Given the description of an element on the screen output the (x, y) to click on. 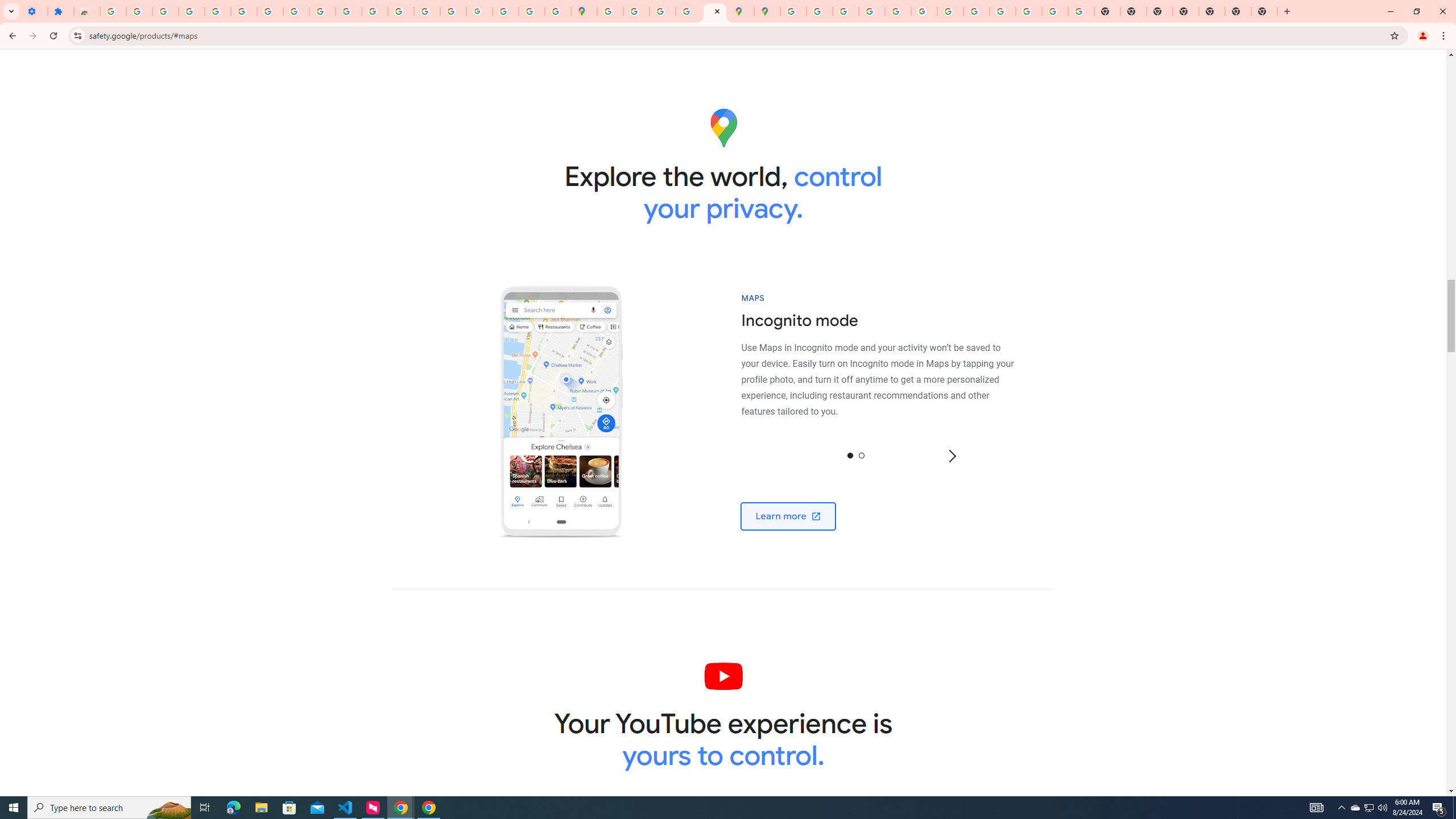
https://scholar.google.com/ (374, 11)
1 (861, 454)
The YouTube logo (722, 675)
Safety in Our Products - Google Safety Center (715, 11)
Privacy Help Center - Policies Help (845, 11)
YouTube (322, 11)
